Given the description of an element on the screen output the (x, y) to click on. 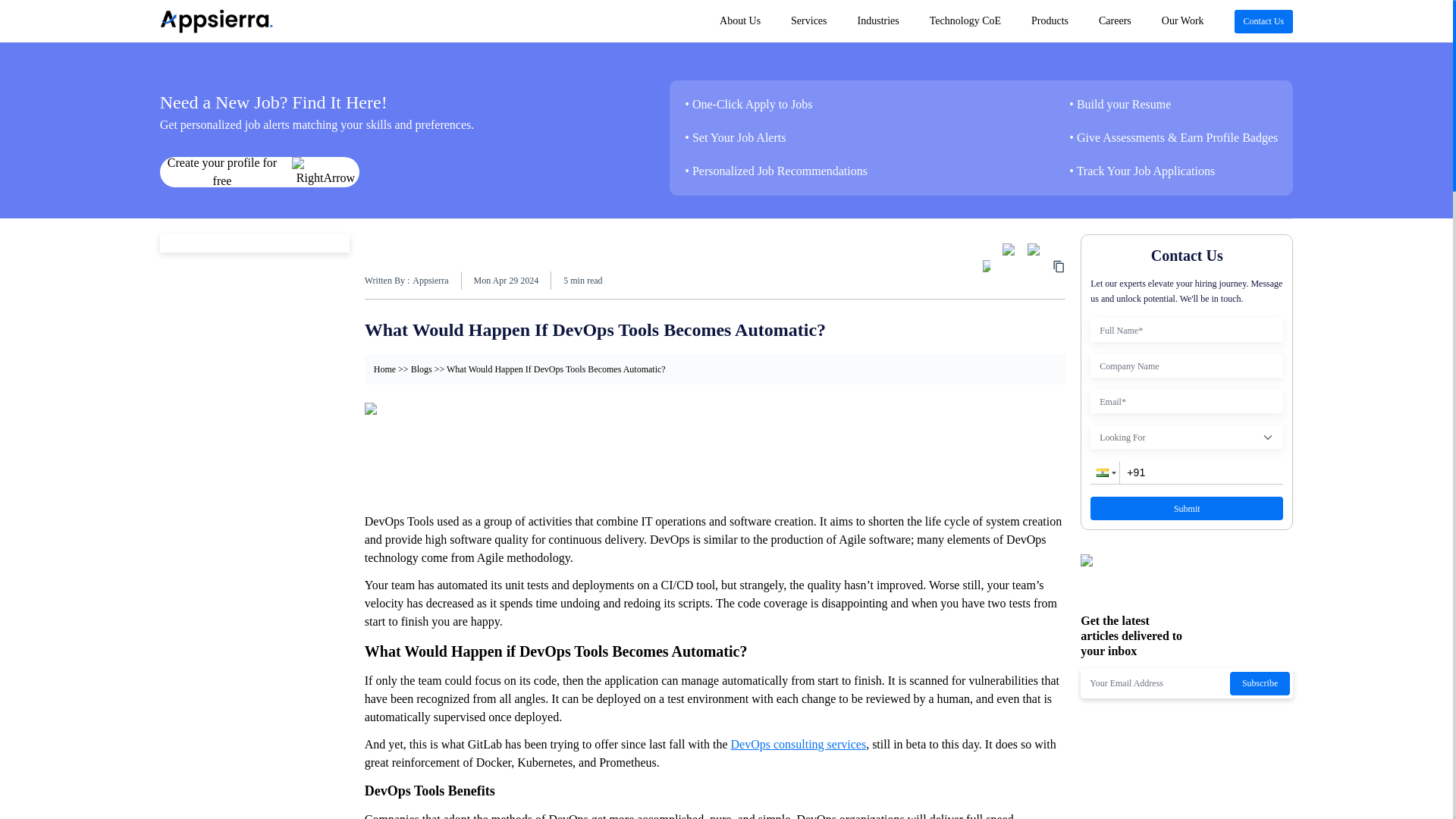
Careers (1115, 20)
Services (808, 21)
About Us (724, 20)
Our Work (1182, 20)
